Given the description of an element on the screen output the (x, y) to click on. 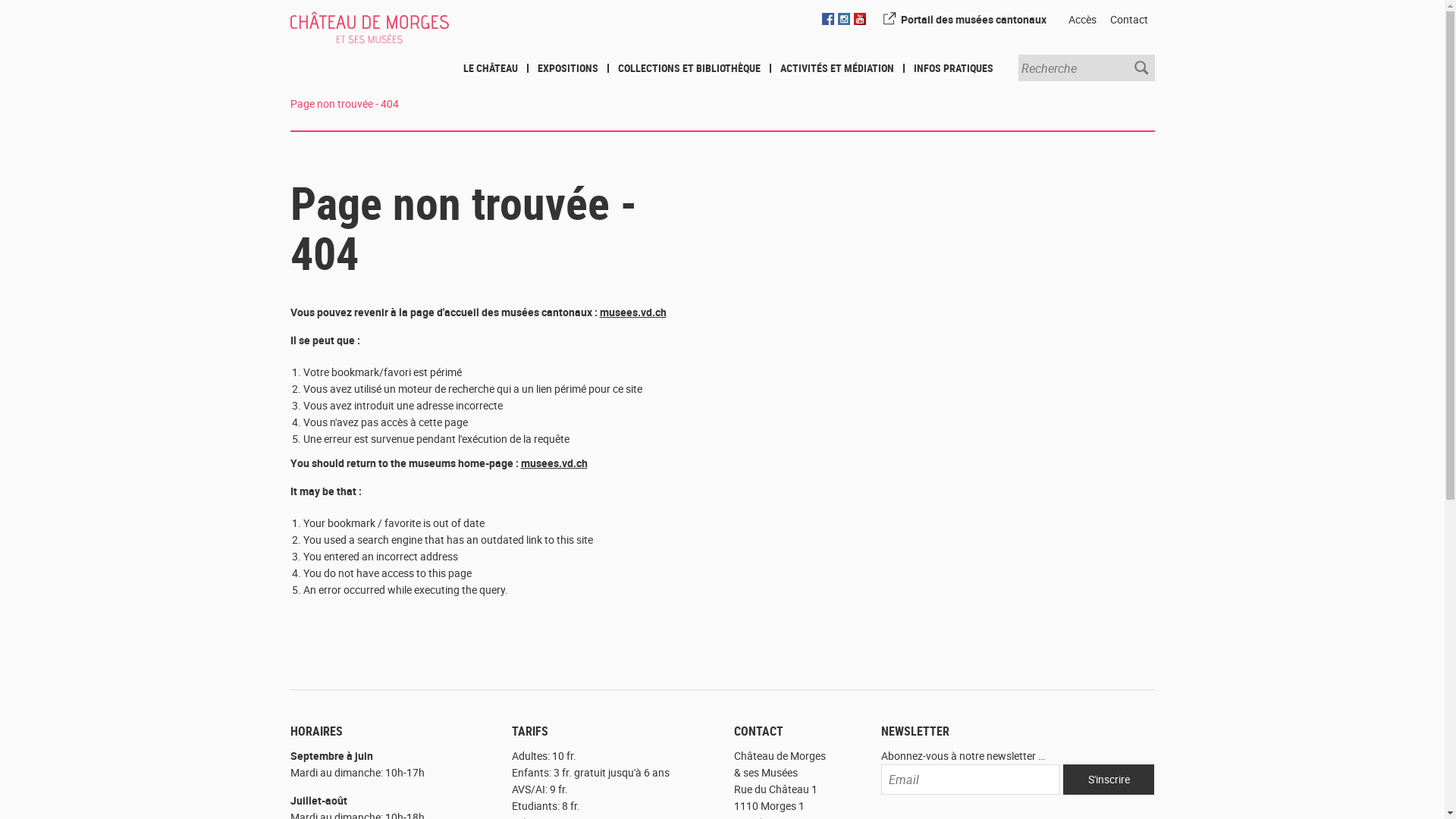
INFOS PRATIQUES Element type: text (952, 68)
Rechercher Element type: text (1141, 67)
musees.vd.ch Element type: text (553, 462)
S'inscrire Element type: text (1108, 779)
Facebook Element type: text (828, 18)
YouTube Element type: text (859, 18)
EXPOSITIONS Element type: text (567, 68)
Contact Element type: text (1128, 23)
musees.vd.ch Element type: text (632, 311)
Instagram Element type: text (843, 18)
